Given the description of an element on the screen output the (x, y) to click on. 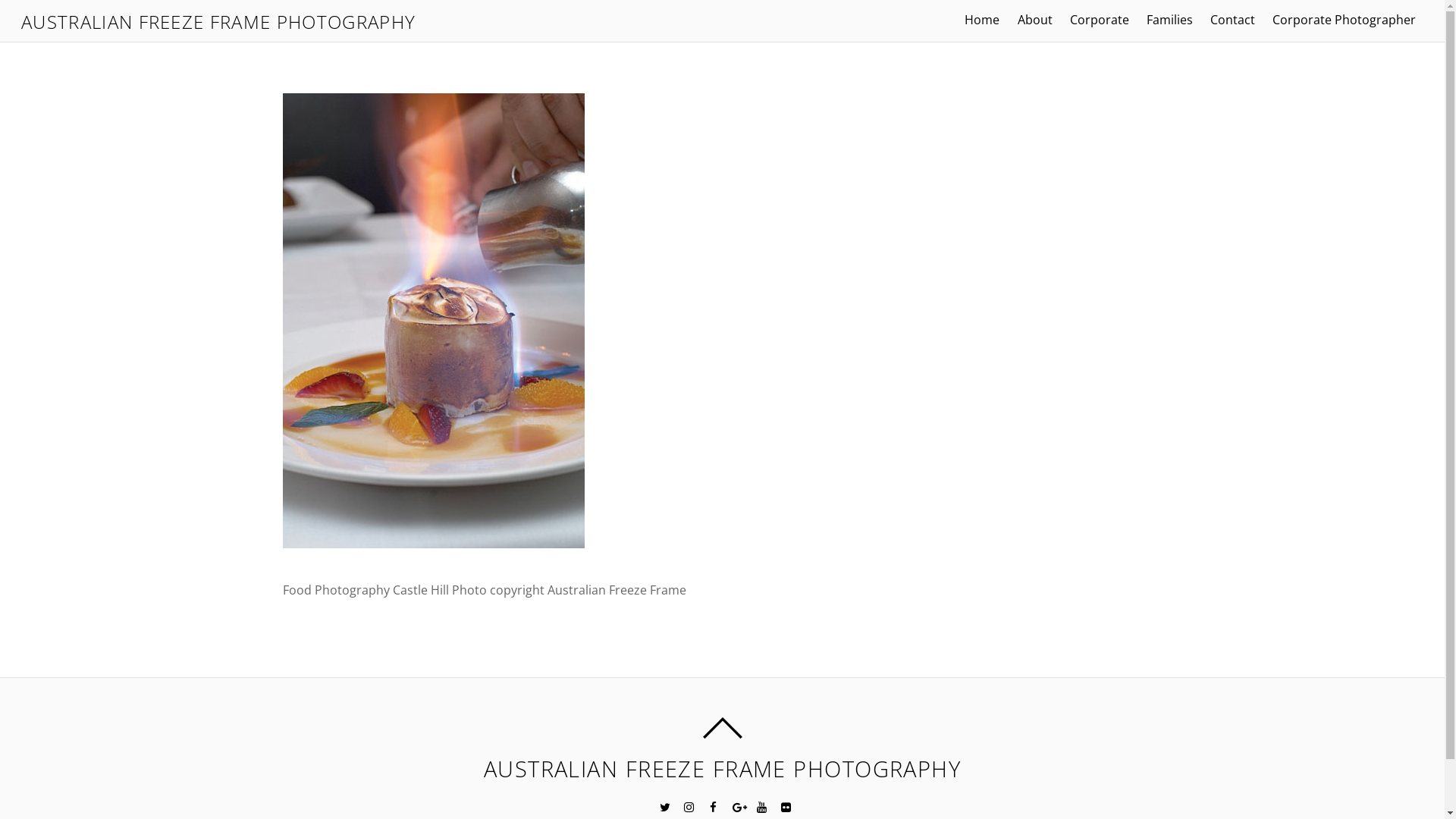
Twitter Element type: hover (663, 805)
Flickr Element type: hover (784, 805)
Corporate Element type: text (1098, 19)
About Element type: text (1034, 19)
Corporate Photographer Element type: text (1344, 19)
Instagram Element type: hover (687, 805)
Home Element type: text (982, 19)
Contact Element type: text (1232, 19)
Facebook Element type: hover (711, 805)
AUSTRALIAN FREEZE FRAME PHOTOGRAPHY Element type: text (721, 768)
AUSTRALIAN FREEZE FRAME PHOTOGRAPHY Element type: text (218, 21)
Google+ Element type: hover (736, 805)
YouTube Element type: hover (760, 805)
Families Element type: text (1169, 19)
